Given the description of an element on the screen output the (x, y) to click on. 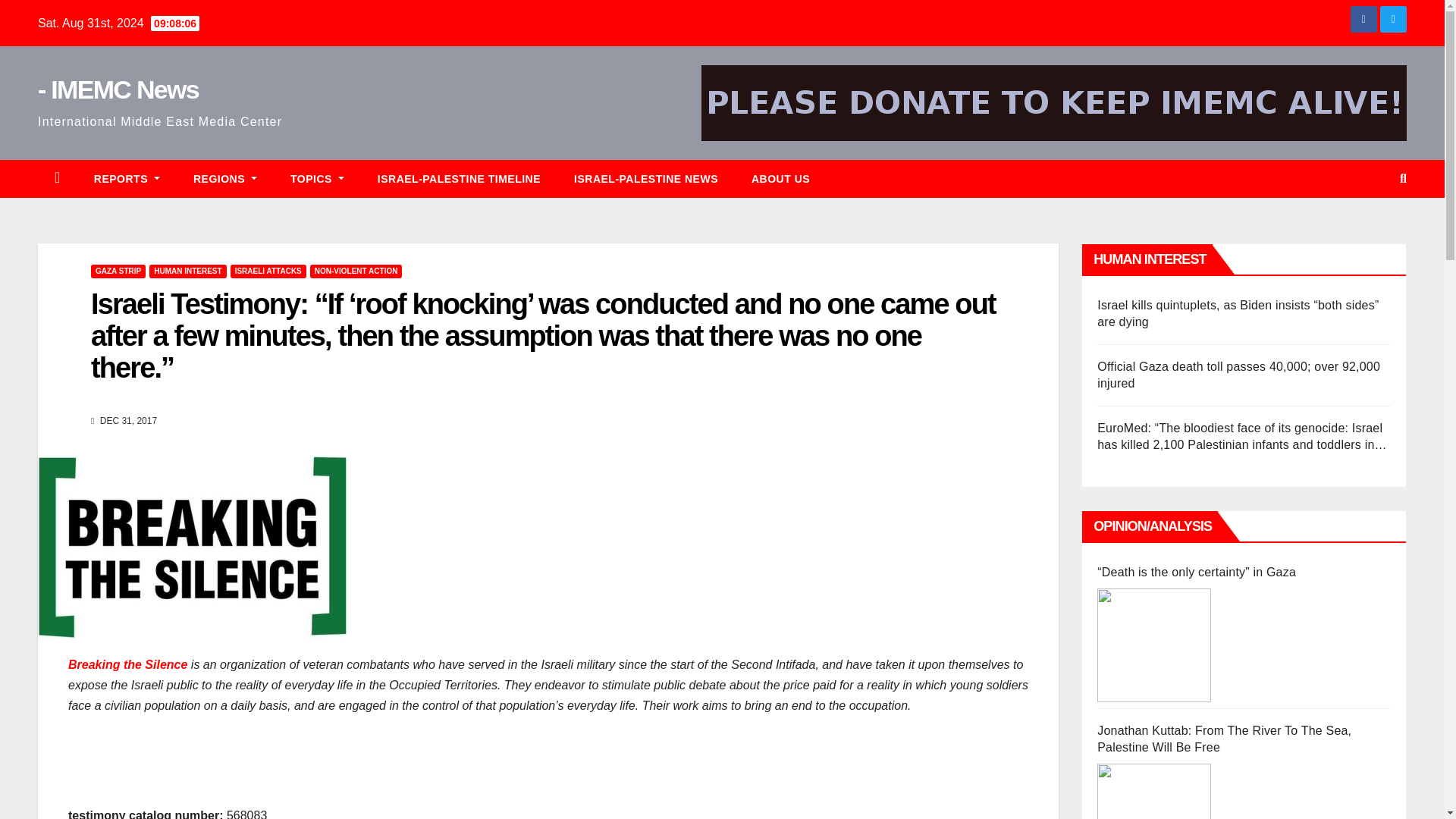
REGIONS (224, 178)
- IMEMC News (117, 89)
Regions (224, 178)
Reports (126, 178)
REPORTS (126, 178)
TOPICS (317, 178)
